Given the description of an element on the screen output the (x, y) to click on. 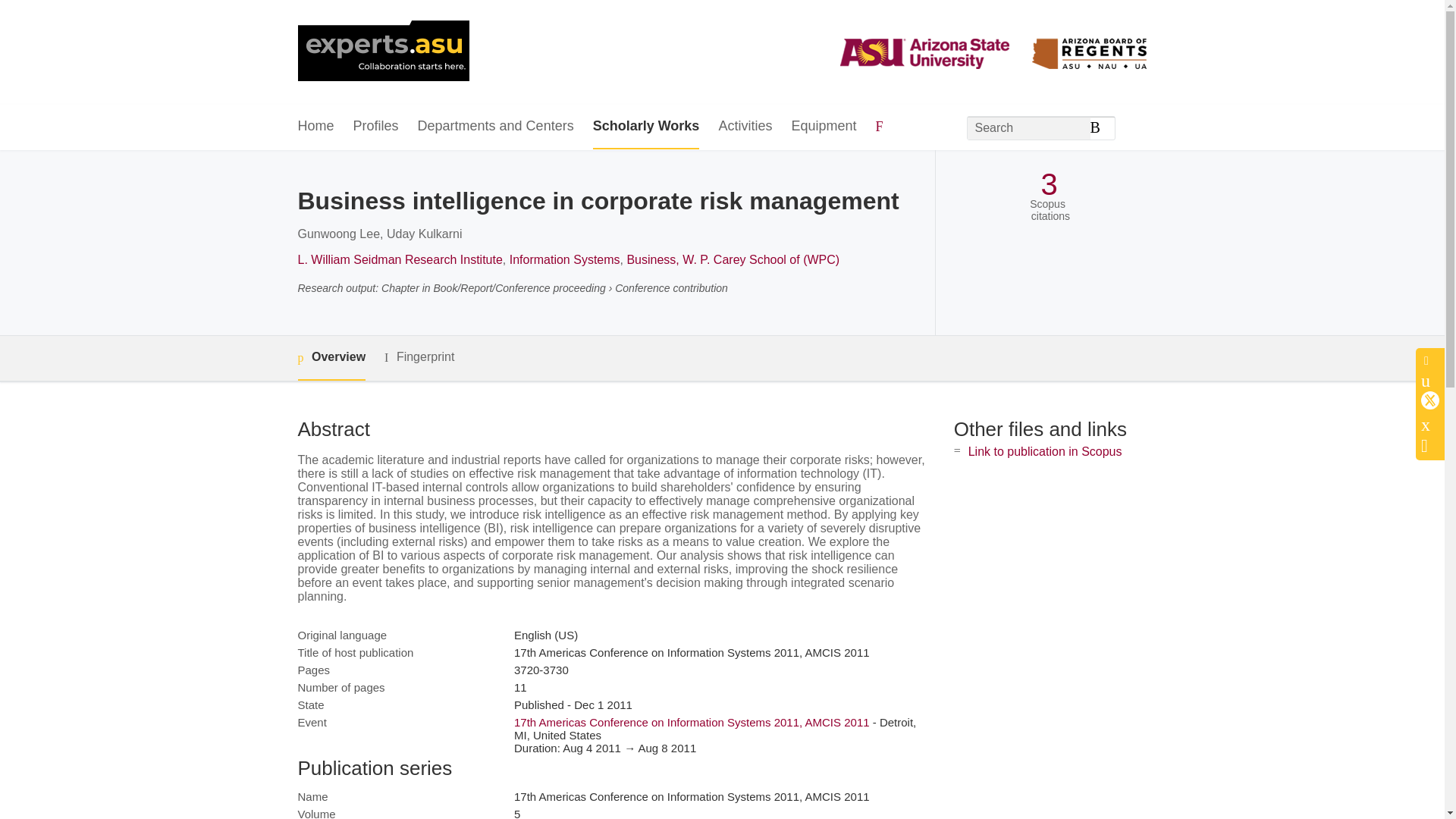
Profiles (375, 126)
Fingerprint (419, 357)
Information Systems (564, 259)
Departments and Centers (495, 126)
Activities (744, 126)
Link to publication in Scopus (1045, 451)
L. William Seidman Research Institute (399, 259)
Overview (331, 357)
Scholarly Works (646, 126)
Equipment (823, 126)
